Given the description of an element on the screen output the (x, y) to click on. 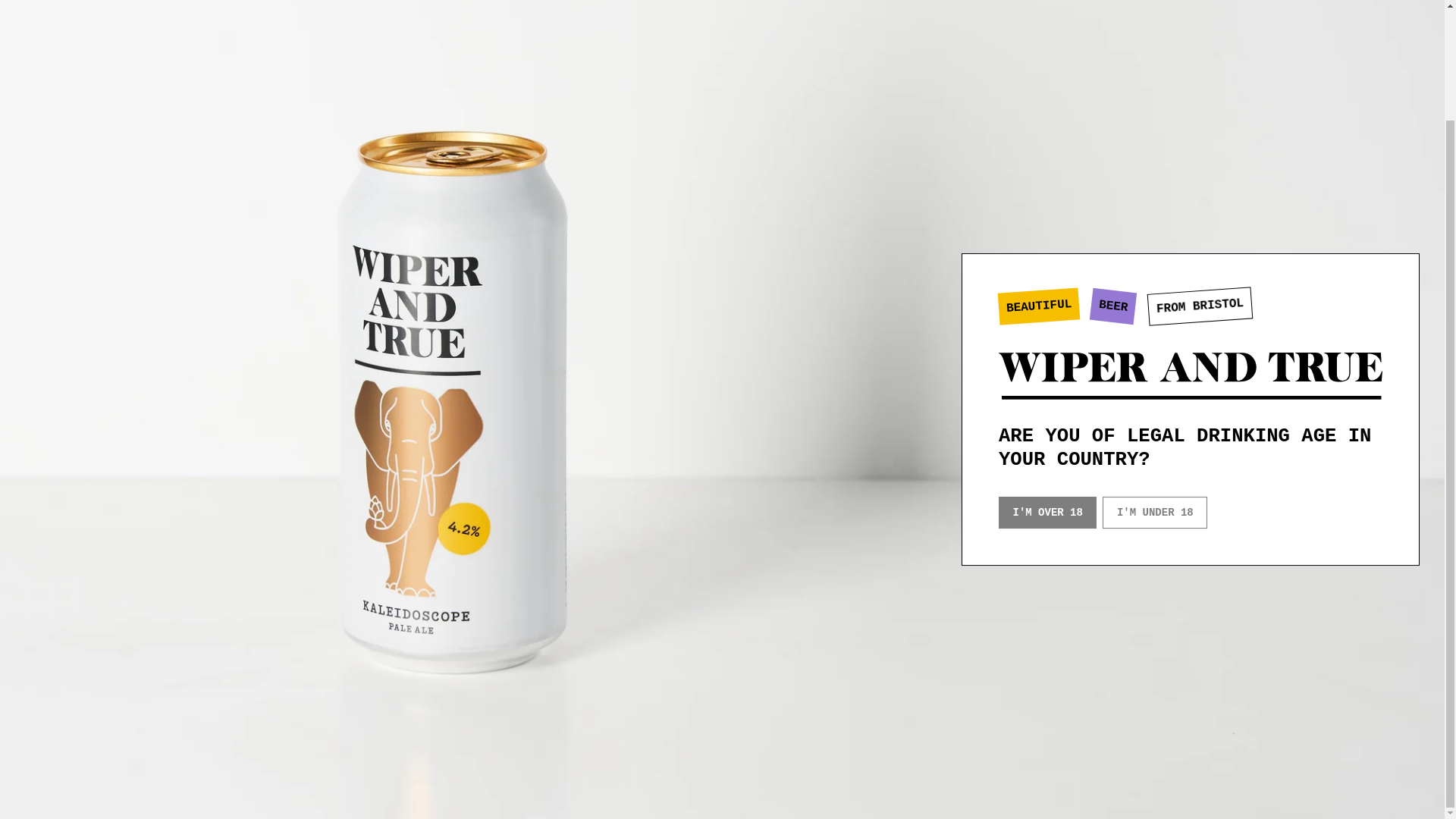
Discover (1171, 785)
Google Pay (1201, 785)
I'M OVER 18 (1047, 382)
Go to home (187, 520)
Diners Club (1141, 785)
I'M UNDER 18 (1154, 382)
Wiper and True (1189, 244)
Wiper and True email signup form (134, 354)
Apple Pay (1110, 785)
American Express (1079, 785)
